Given the description of an element on the screen output the (x, y) to click on. 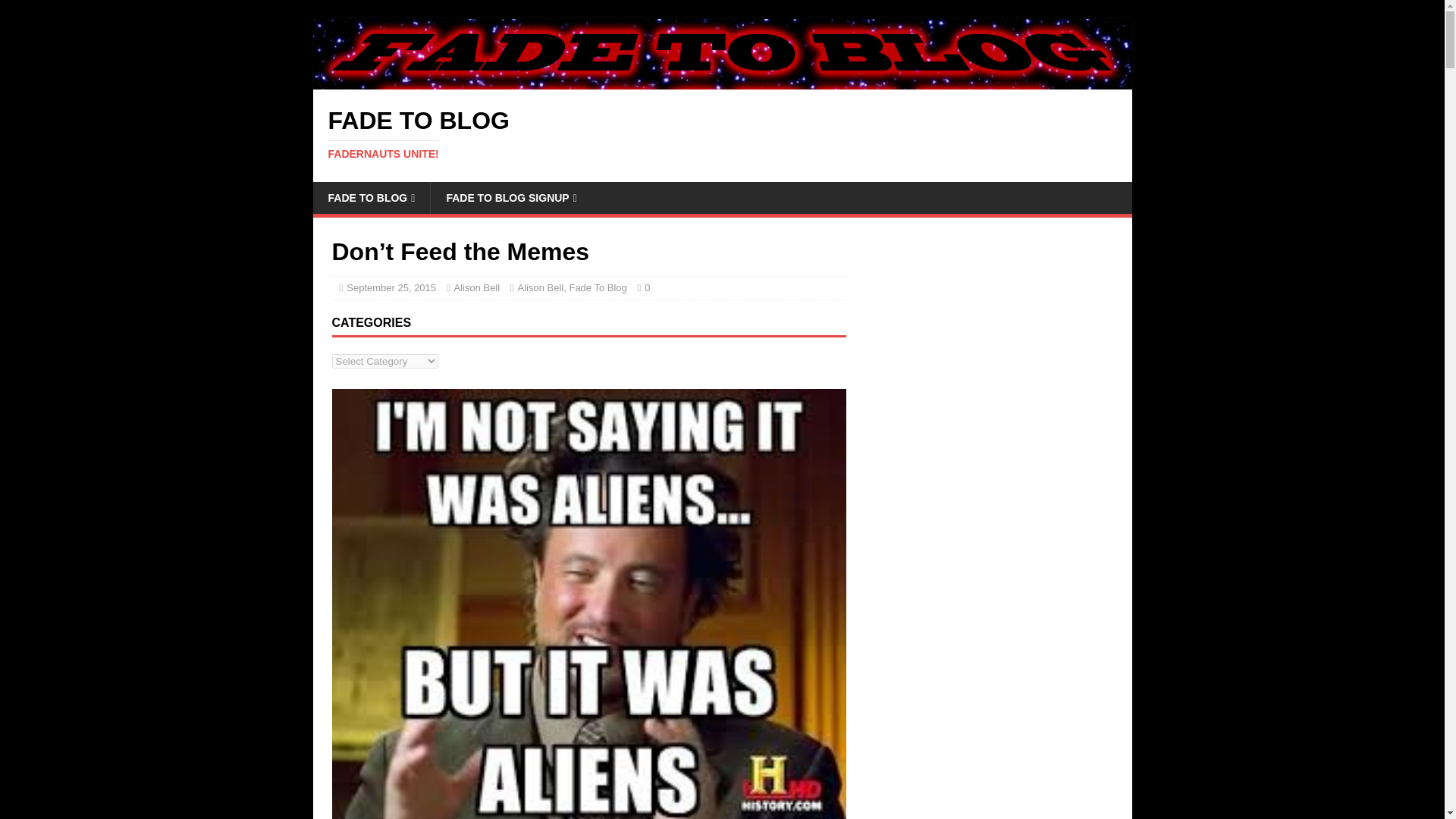
September 25, 2015 (390, 287)
FADE TO BLOG (371, 197)
Alison Bell (541, 287)
Alison Bell (475, 287)
FADE TO BLOG SIGNUP (510, 197)
Fade To Blog (721, 133)
Fade To Blog (722, 80)
Fade To Blog (597, 287)
